Given the description of an element on the screen output the (x, y) to click on. 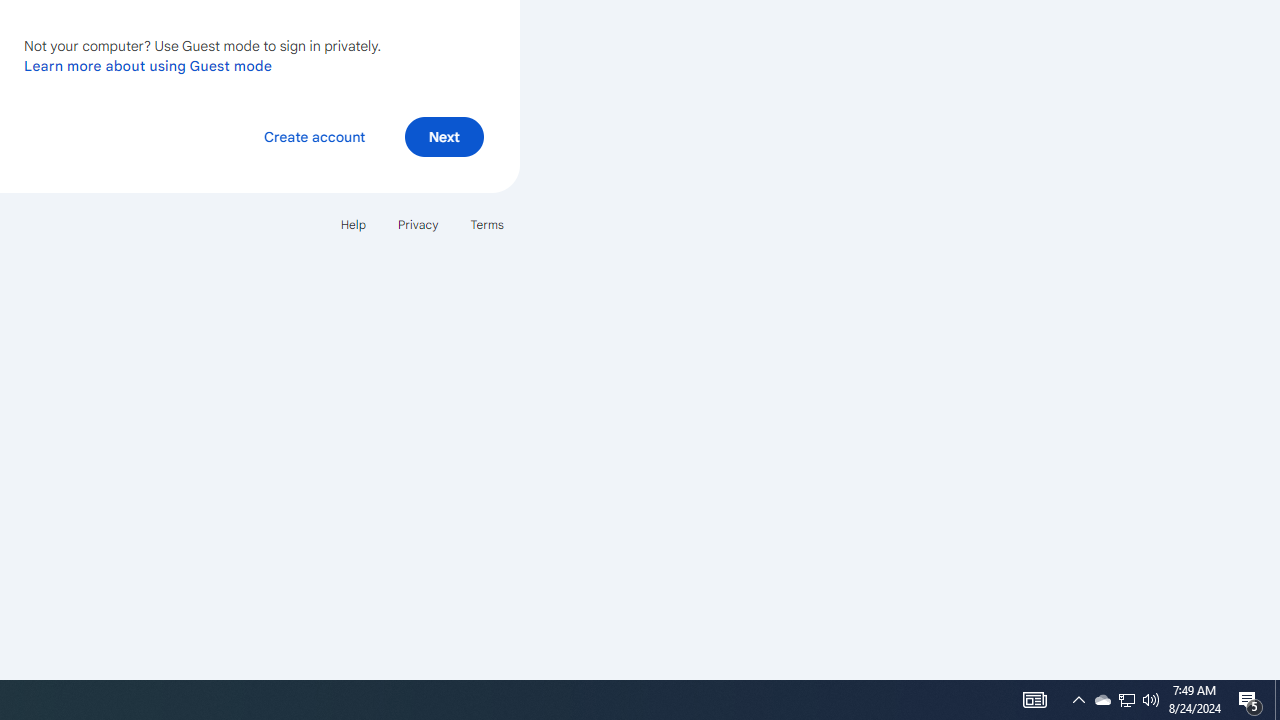
Terms (486, 224)
Create account (314, 135)
Privacy (417, 224)
Next (443, 135)
Learn more about using Guest mode (148, 65)
Help (352, 224)
